Given the description of an element on the screen output the (x, y) to click on. 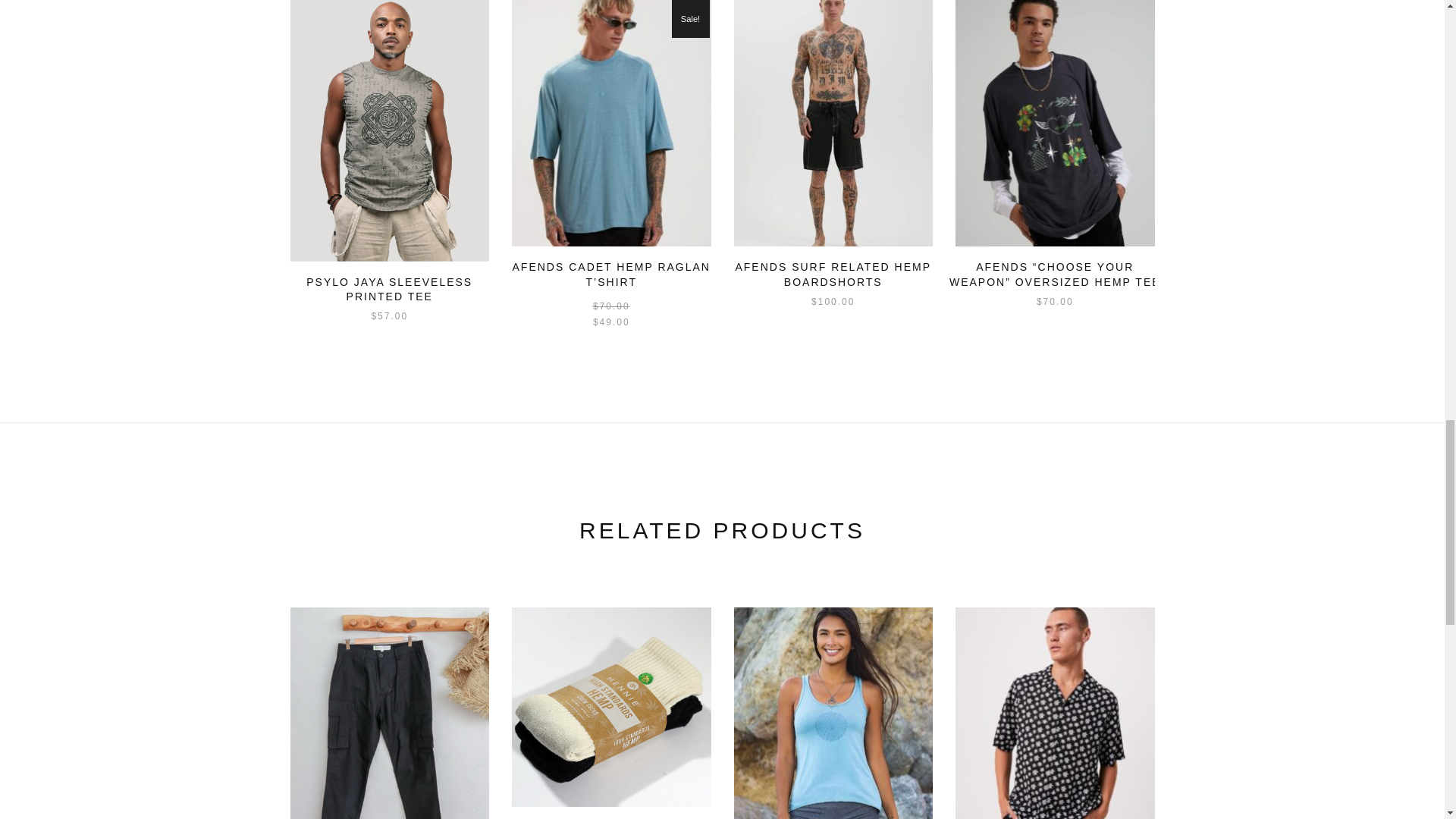
Hemp-small-packaged-angle-sq-2-.jpg (611, 706)
Afends-Surf-Related-Shorts.jpg (832, 123)
Black-Hemp-Cargo-Pants-Braintree.png (389, 713)
Mandala-2.jpg (832, 713)
Afends-Choose-your-weapon-hemp-tee.jpg (1054, 123)
